Given the description of an element on the screen output the (x, y) to click on. 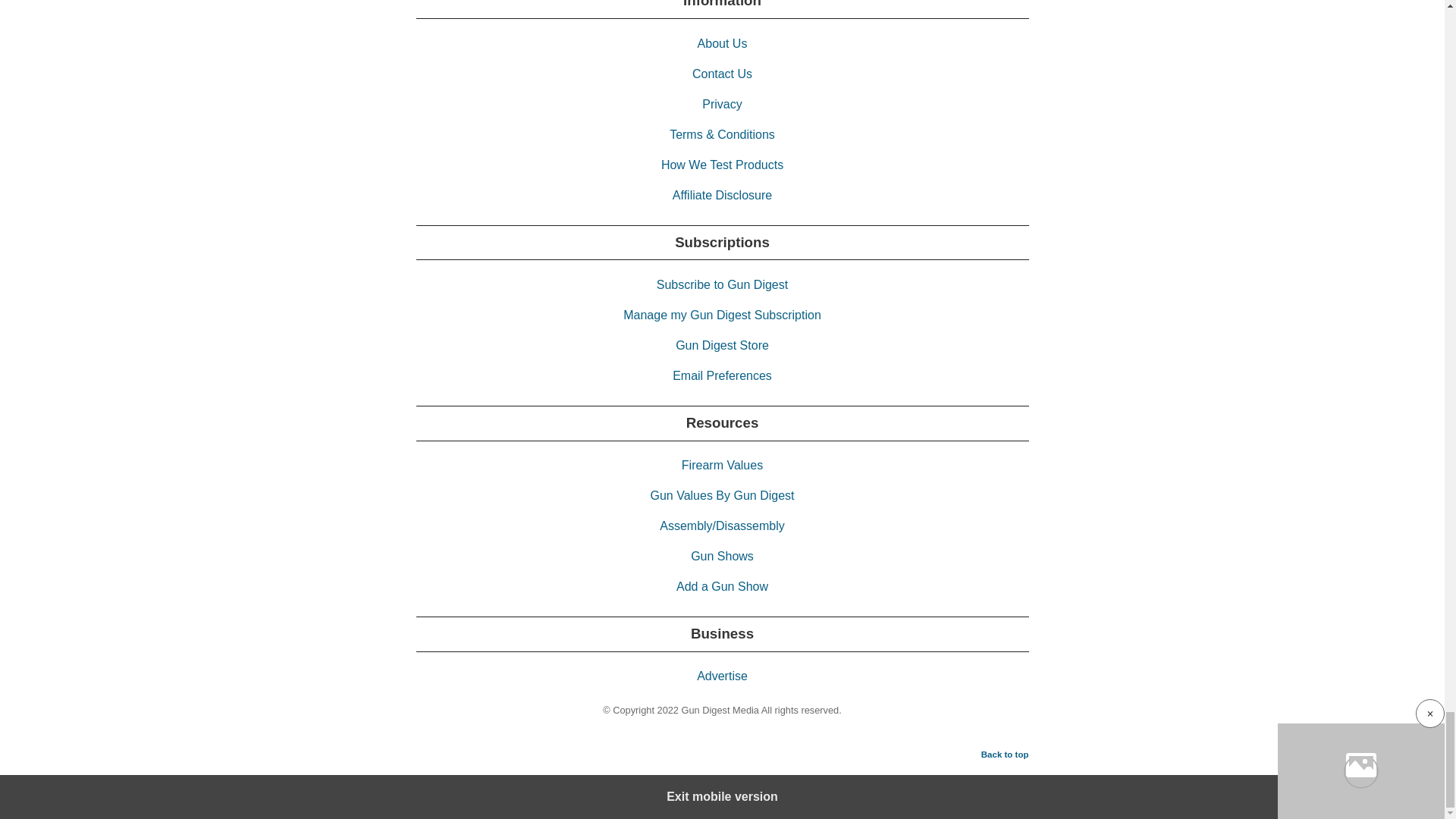
Affiliate Disclosure (721, 195)
Privacy (721, 103)
Back to top (1005, 754)
Gun Digest Store (721, 345)
Gun Values By Gun Digest (721, 495)
Firearm Values (721, 464)
Email Preferences (721, 375)
Contact Us (722, 73)
Manage my Gun Digest Subscription (722, 314)
How We Test Products (722, 164)
